Given the description of an element on the screen output the (x, y) to click on. 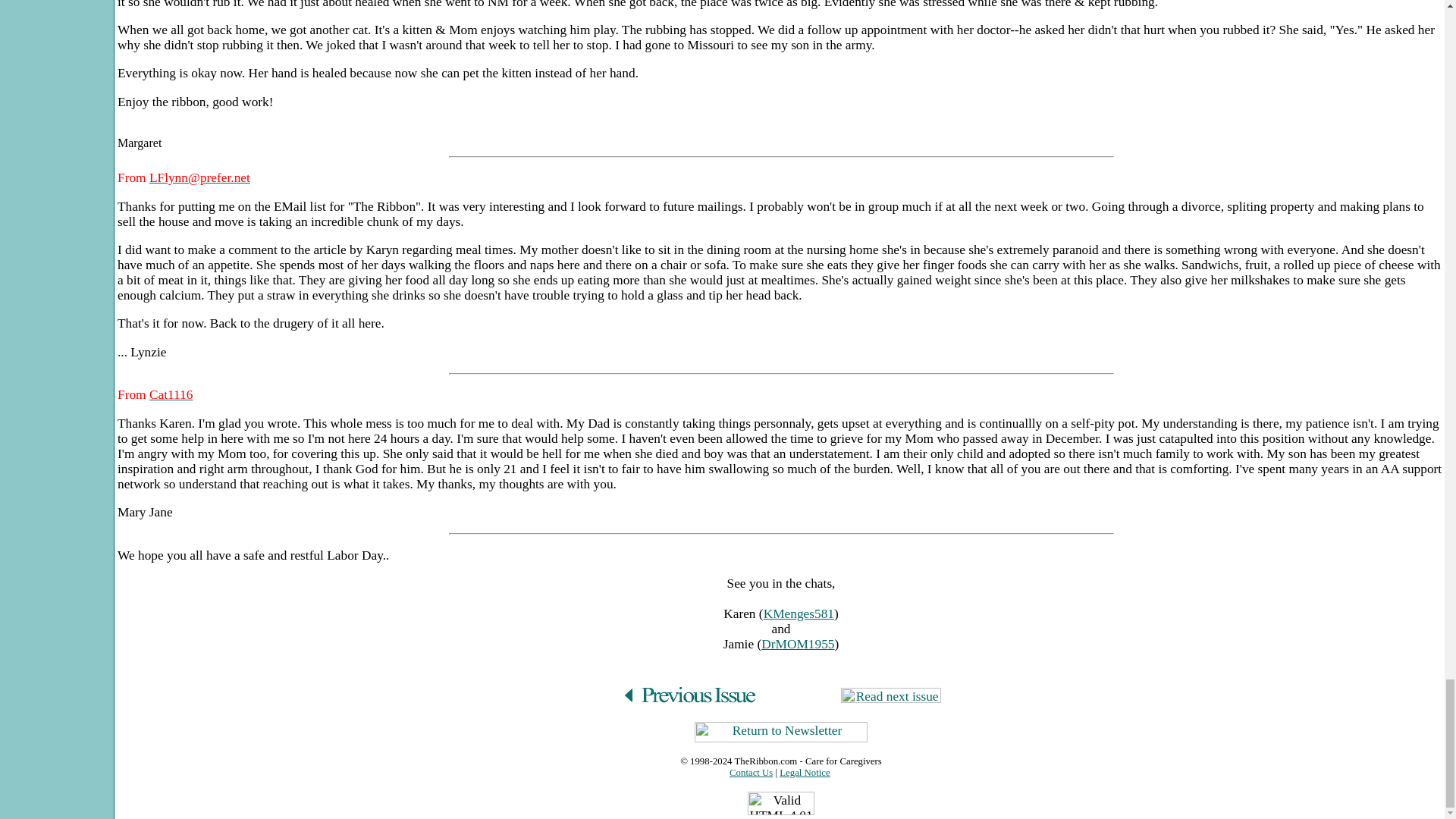
Legal (803, 772)
The Ribbon - Care for Caregivers (764, 760)
Contact The Ribbon (751, 772)
